Given the description of an element on the screen output the (x, y) to click on. 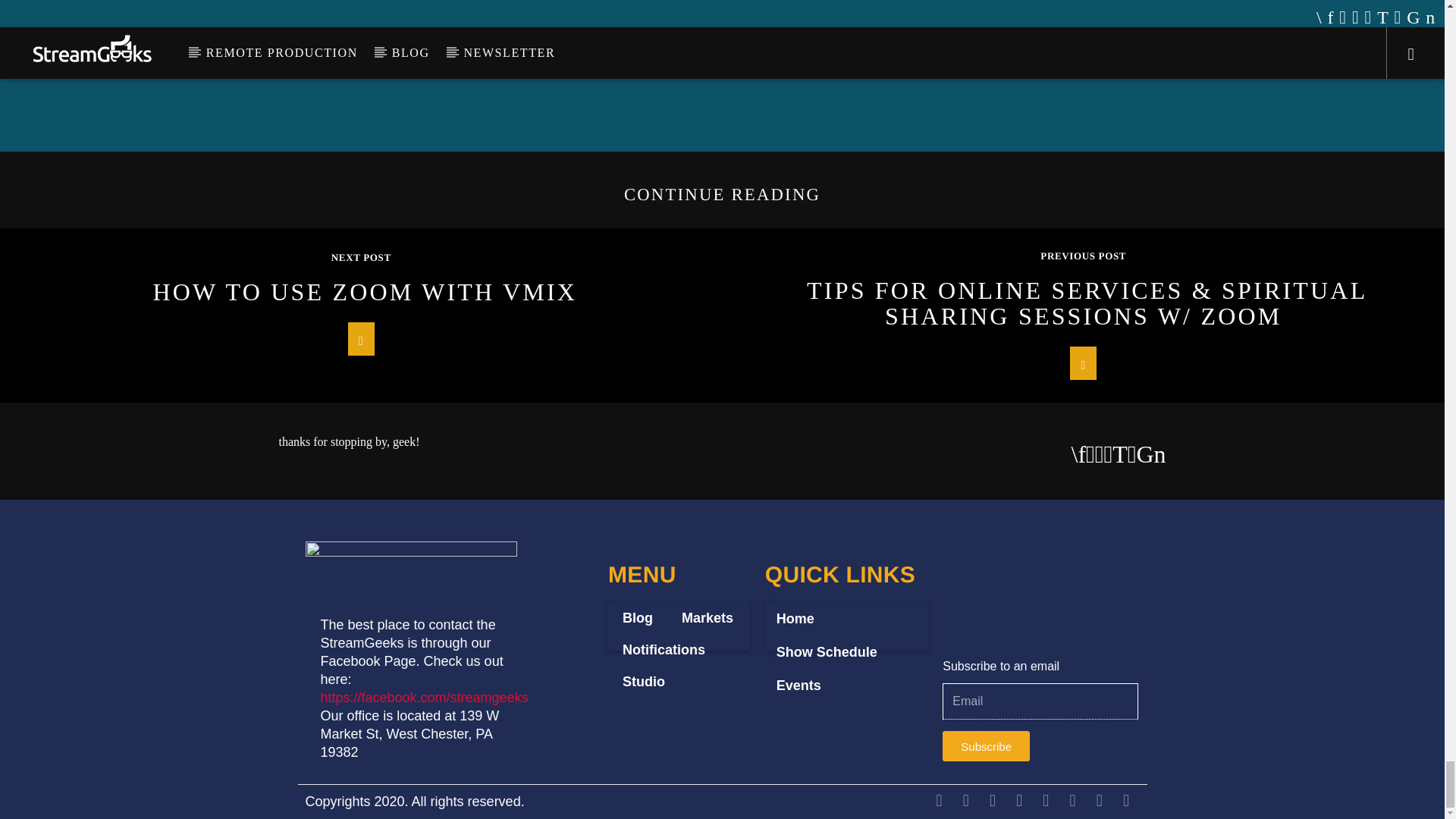
Posts by Paul Richards (921, 21)
Posts by Paul Richards (317, 47)
Posts by Paul Richards (618, 10)
